Given the description of an element on the screen output the (x, y) to click on. 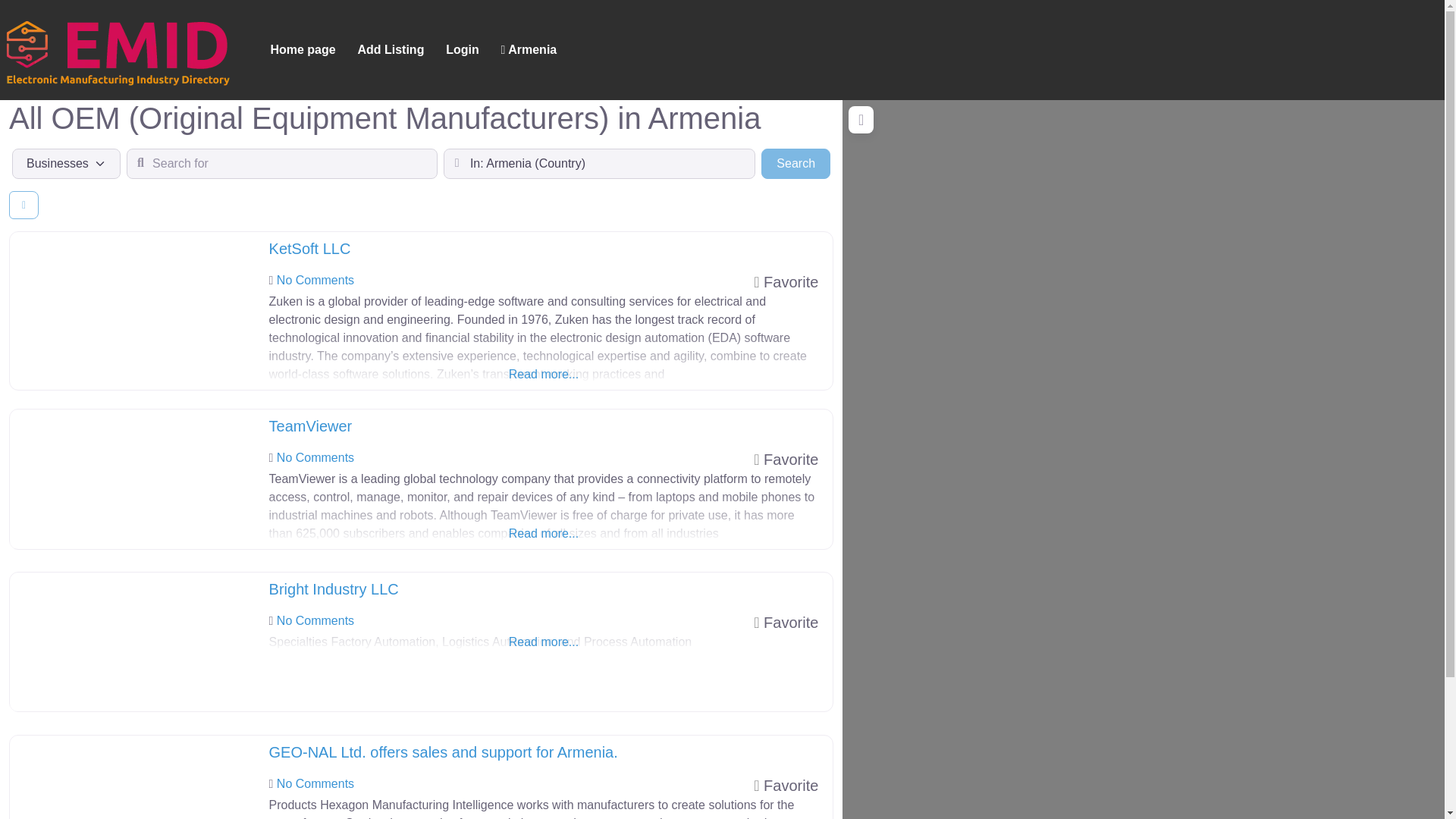
View: Bright Industry LLC (333, 588)
View: TeamViewer (310, 425)
Bright Industry LLC (795, 163)
No Comments (333, 588)
TeamViewer (314, 457)
View: KetSoft LLC (310, 425)
Login (309, 248)
Add Listing (462, 49)
No Comments (390, 49)
Add to Favorites (314, 783)
Read more... (786, 459)
Add to Favorites (543, 515)
View: GEO-NAL Ltd. offers sales and support for Armenia. (786, 622)
Armenia (443, 751)
